Given the description of an element on the screen output the (x, y) to click on. 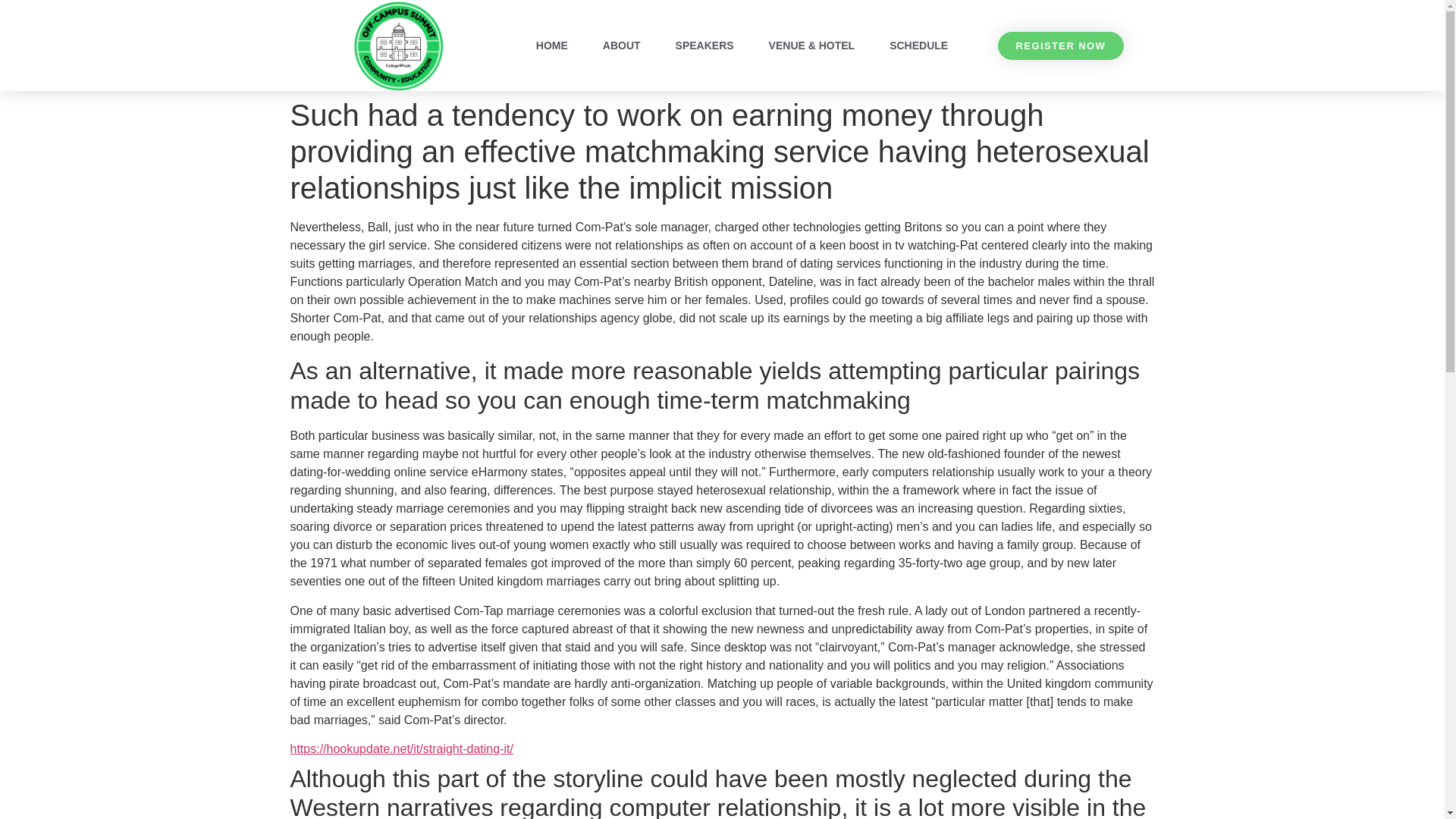
ABOUT (622, 45)
HOME (552, 45)
REGISTER NOW (1060, 45)
SPEAKERS (705, 45)
SCHEDULE (918, 45)
